Given the description of an element on the screen output the (x, y) to click on. 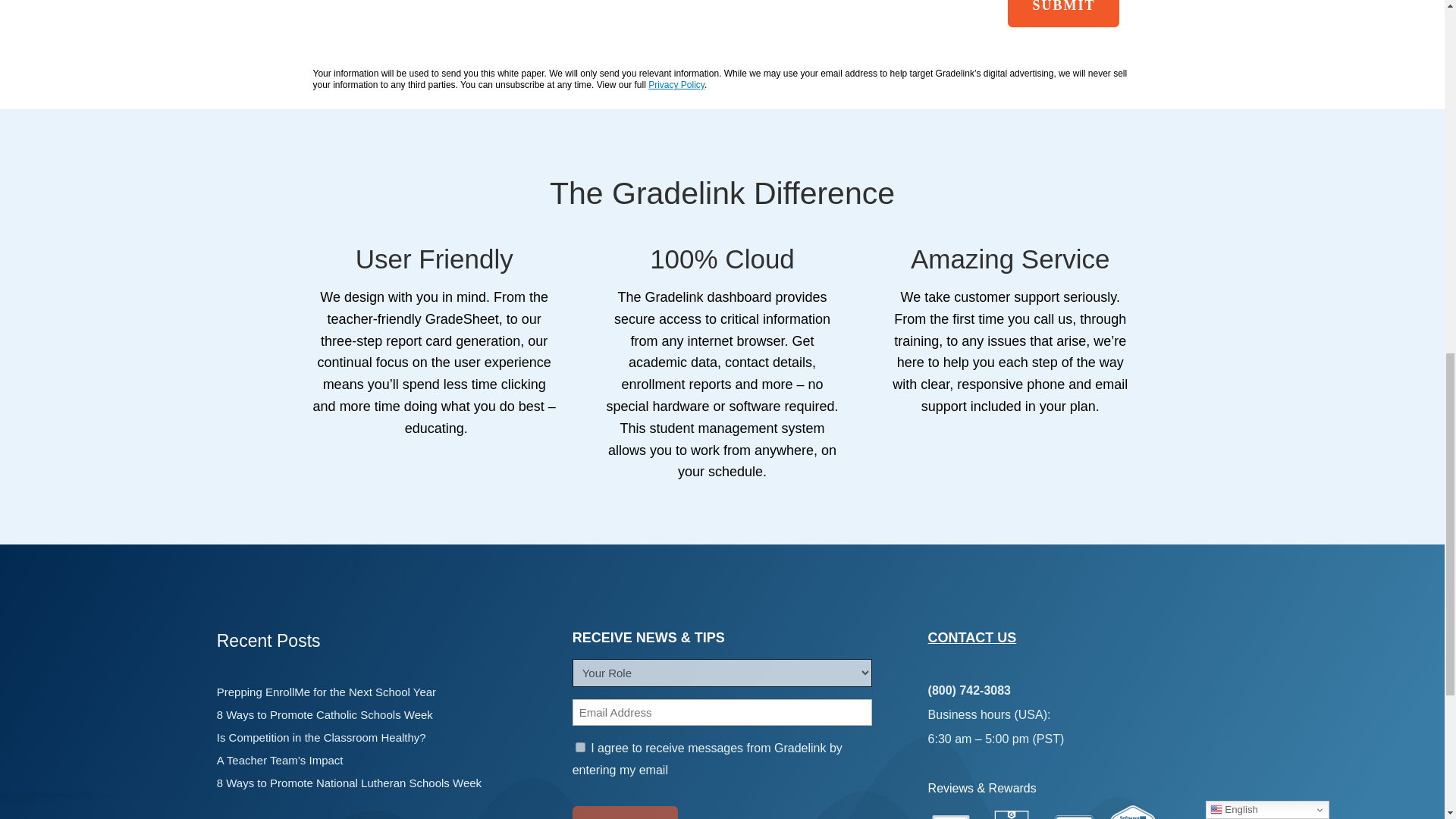
Submit (625, 812)
Submit (1063, 13)
Category Leaders Badge (1074, 816)
1 (580, 747)
Frontrunners Badge (1132, 812)
